Given the description of an element on the screen output the (x, y) to click on. 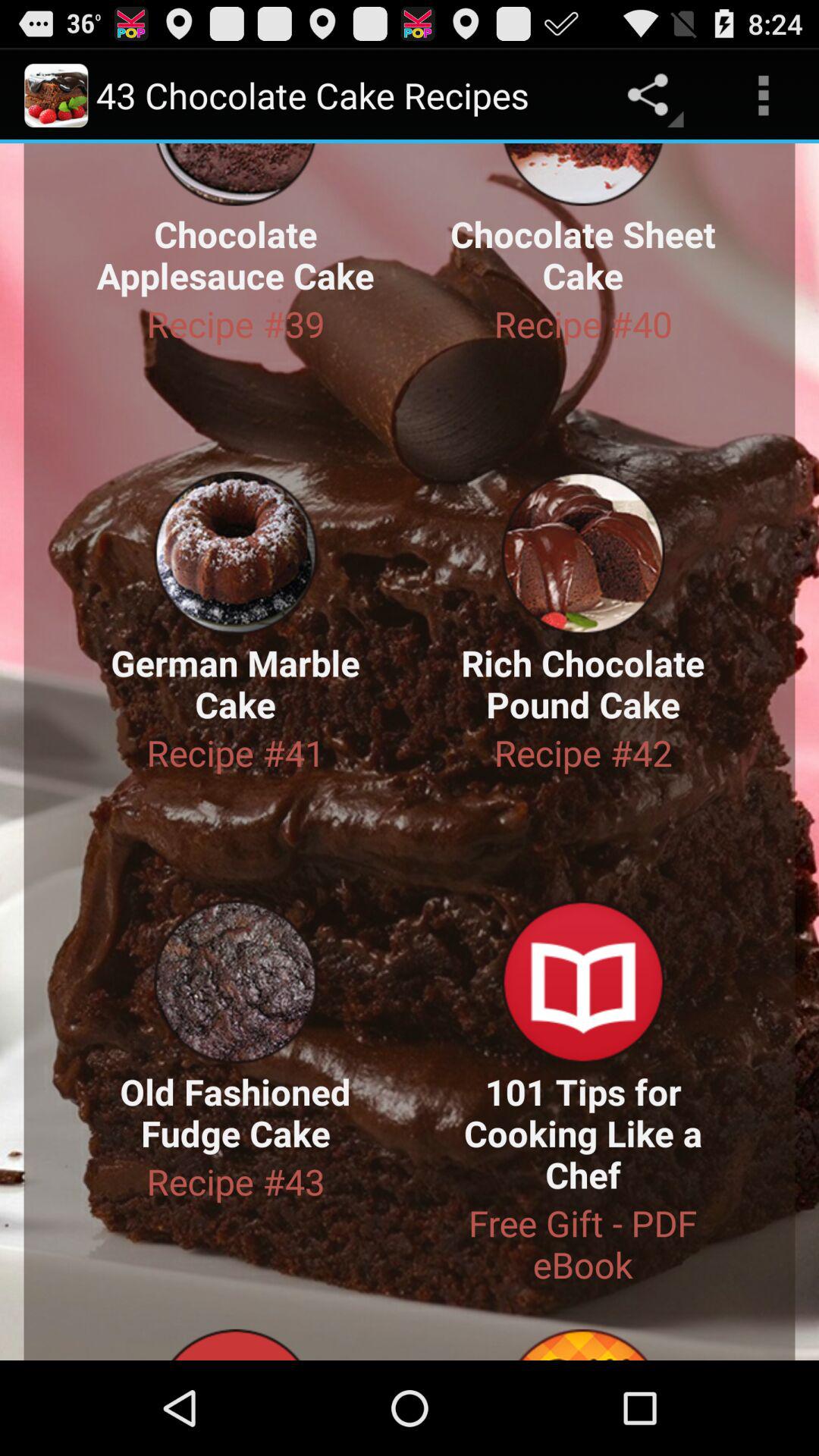
click on the icon which is right side of 43 chocolate cake recipes (651, 95)
select the image above chocolate sheet cake (583, 174)
choose the image above the text rich chocolate pound cake (583, 552)
